Given the description of an element on the screen output the (x, y) to click on. 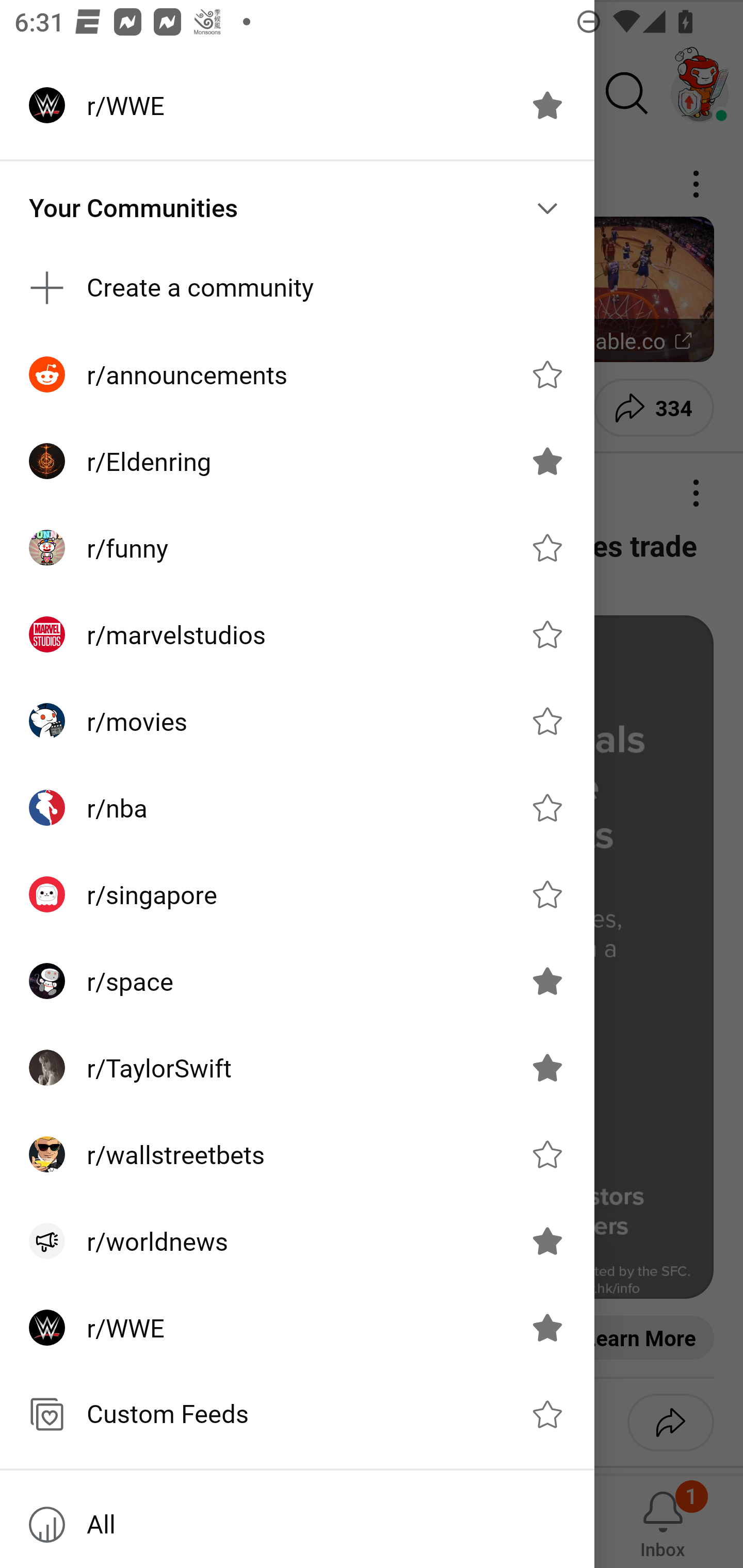
r/WWE Unfavorite r/WWE (297, 104)
Unfavorite r/WWE (546, 104)
Your Communities (297, 208)
Create a community (297, 287)
r/announcements Favorite r/announcements (297, 373)
Favorite r/announcements (546, 373)
r/Eldenring Unfavorite r/Eldenring (297, 460)
Unfavorite r/Eldenring (546, 460)
r/funny Favorite r/funny (297, 547)
Favorite r/funny (546, 548)
r/marvelstudios Favorite r/marvelstudios (297, 634)
Favorite r/marvelstudios (546, 634)
r/movies Favorite r/movies (297, 721)
Favorite r/movies (546, 721)
r/nba Favorite r/nba (297, 808)
Favorite r/nba (546, 807)
r/singapore Favorite r/singapore (297, 894)
Favorite r/singapore (546, 894)
r/space Unfavorite r/space (297, 980)
Unfavorite r/space (546, 980)
r/TaylorSwift Unfavorite r/TaylorSwift (297, 1067)
Unfavorite r/TaylorSwift (546, 1067)
r/wallstreetbets Favorite r/wallstreetbets (297, 1154)
Favorite r/wallstreetbets (546, 1154)
r/worldnews Unfavorite r/worldnews (297, 1240)
Unfavorite r/worldnews (546, 1241)
r/WWE Unfavorite r/WWE (297, 1327)
Unfavorite r/WWE (546, 1327)
Custom Feeds (297, 1414)
All (297, 1524)
